Given the description of an element on the screen output the (x, y) to click on. 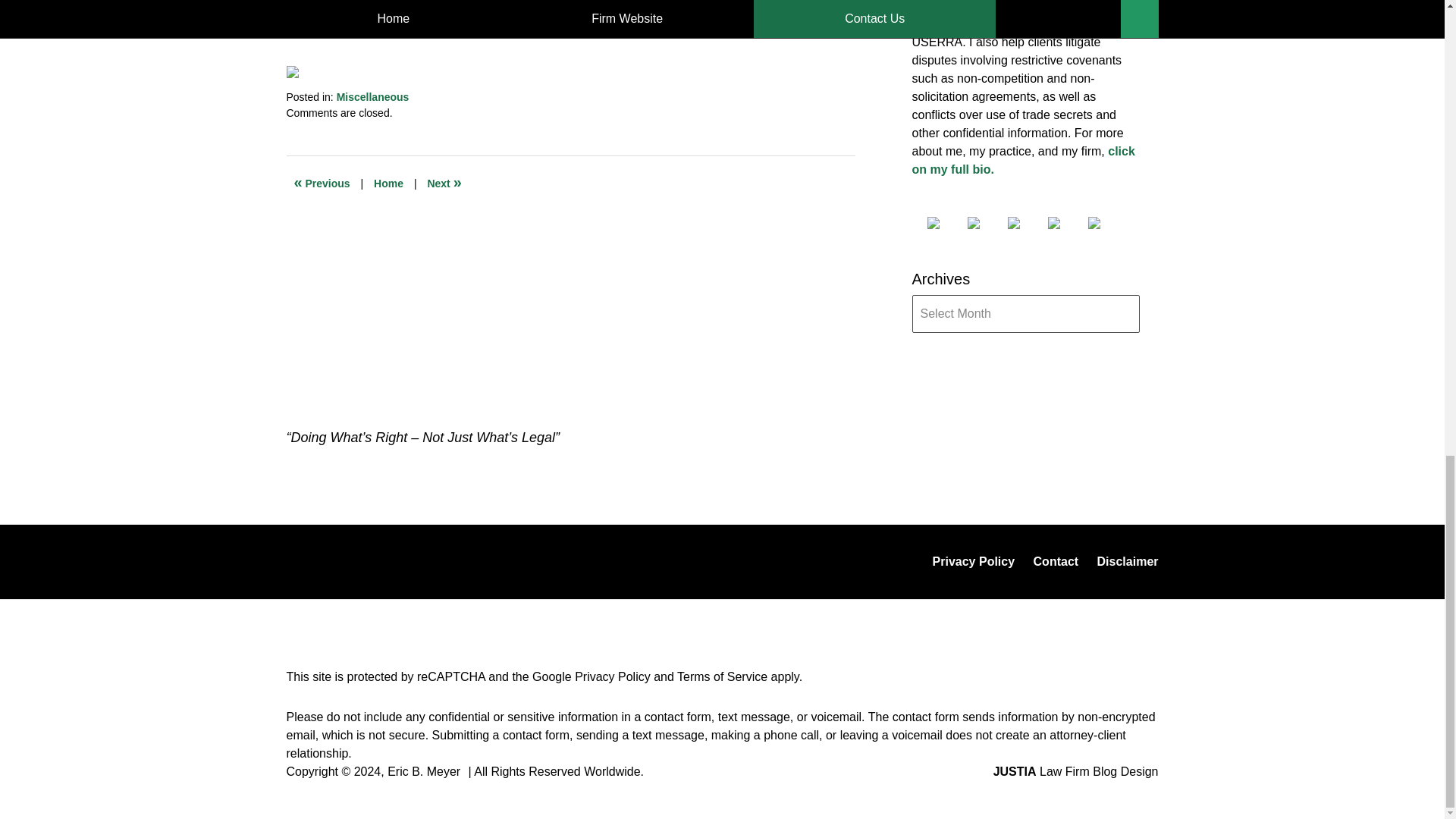
click on my full bio. (1022, 160)
Facebook (944, 223)
Home (388, 183)
Contact (1056, 561)
Eric B. Meyer (423, 771)
Privacy Policy (612, 676)
Miscellaneous (372, 96)
Feed (1105, 223)
Privacy Policy (973, 561)
